Given the description of an element on the screen output the (x, y) to click on. 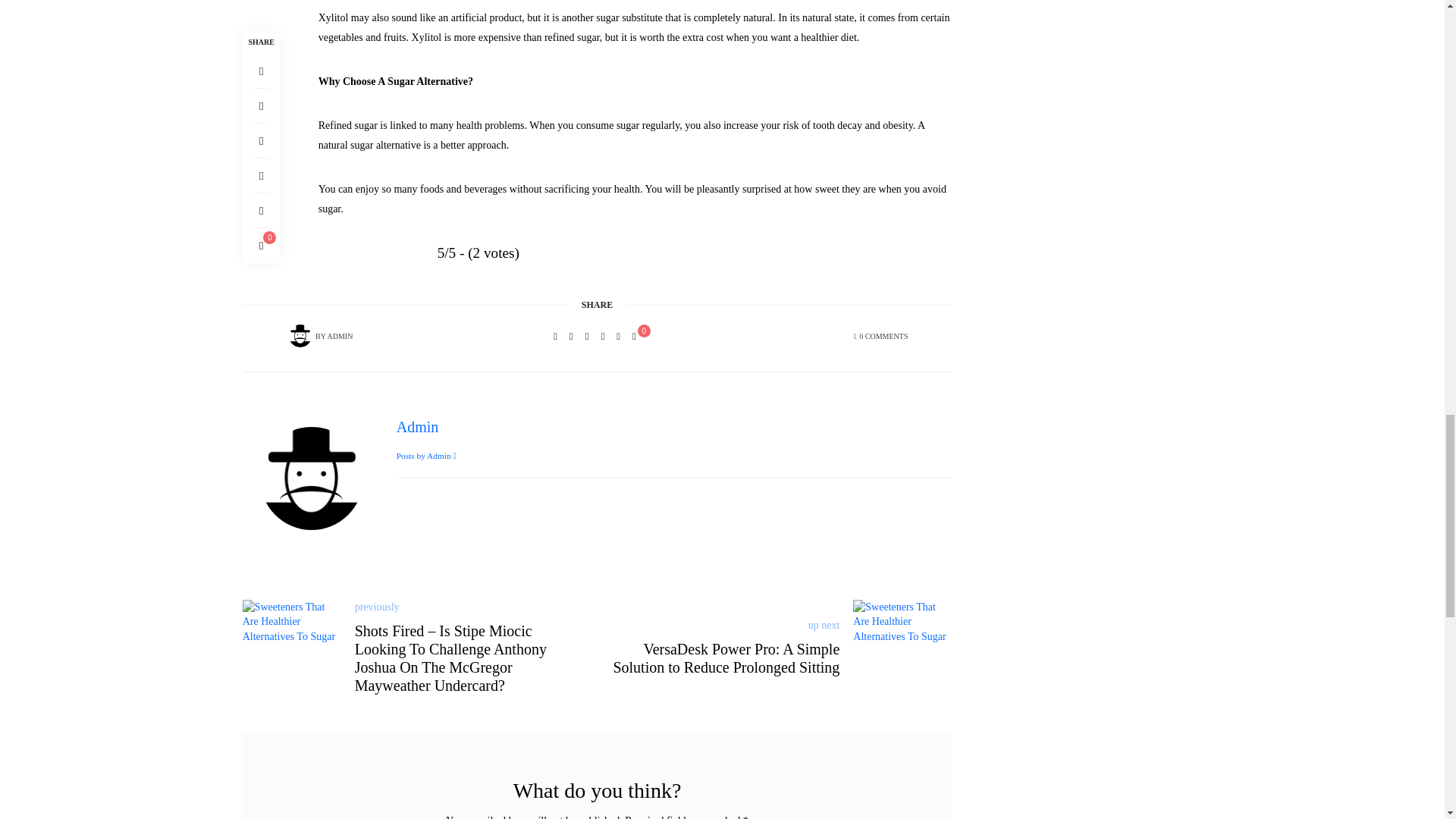
Posts by Admin (339, 336)
ADMIN (339, 336)
Posts by Admin (300, 335)
0 COMMENTS (883, 336)
